Given the description of an element on the screen output the (x, y) to click on. 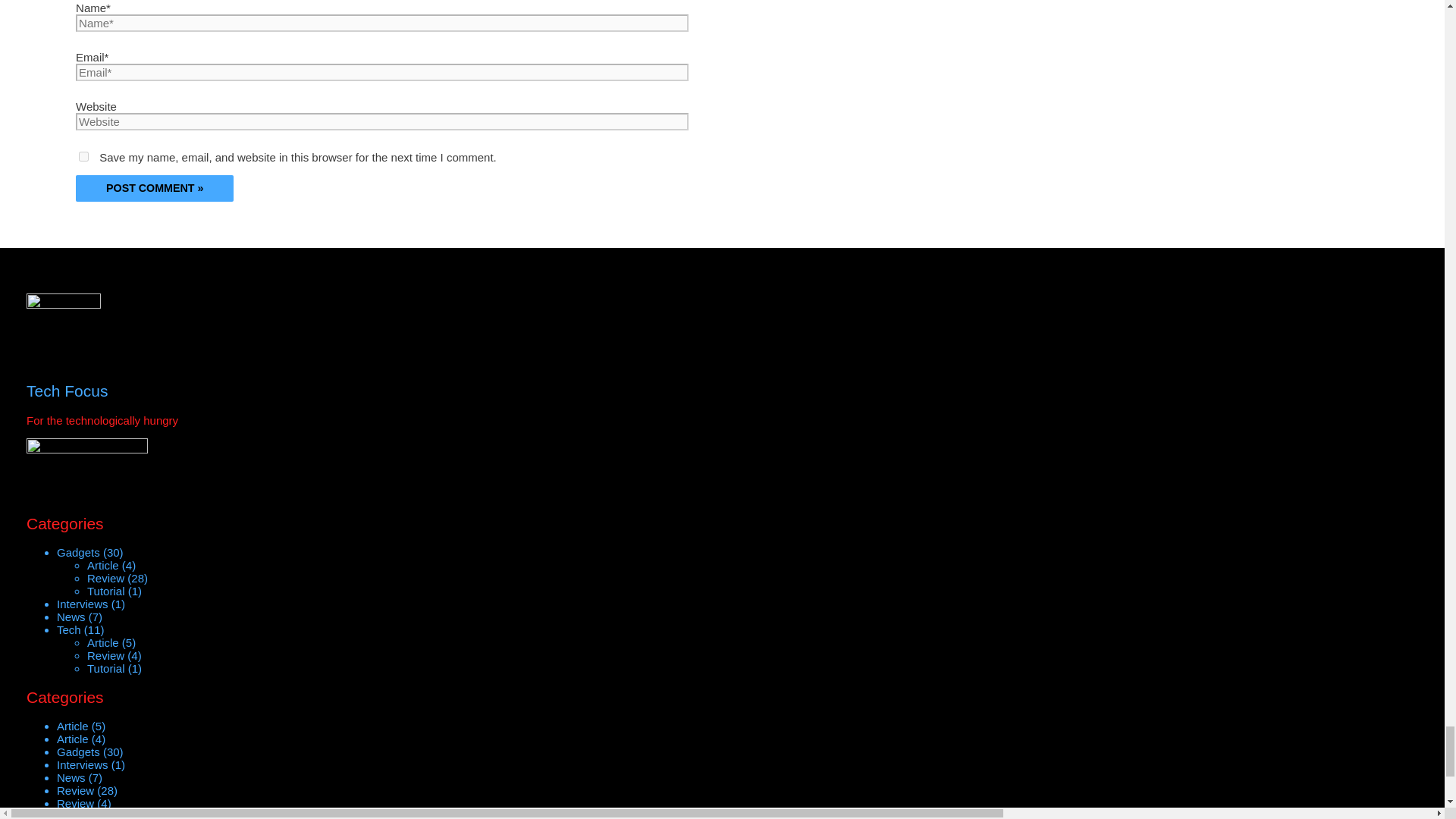
yes (83, 156)
